Given the description of an element on the screen output the (x, y) to click on. 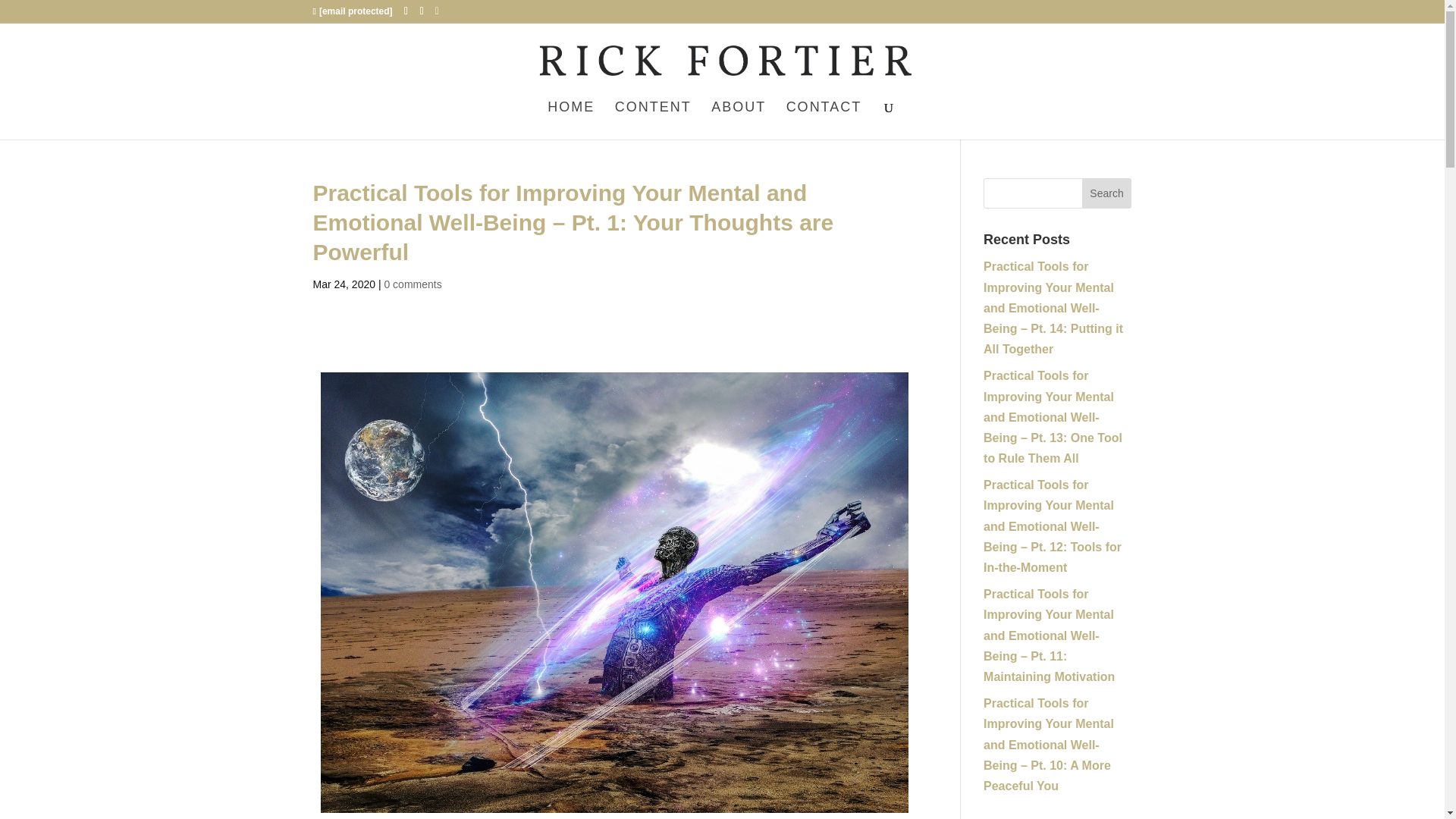
Search (1106, 193)
Search (1106, 193)
0 comments (412, 284)
CONTENT (652, 120)
HOME (570, 120)
CONTACT (823, 120)
Pixabay (667, 817)
ABOUT (738, 120)
